Given the description of an element on the screen output the (x, y) to click on. 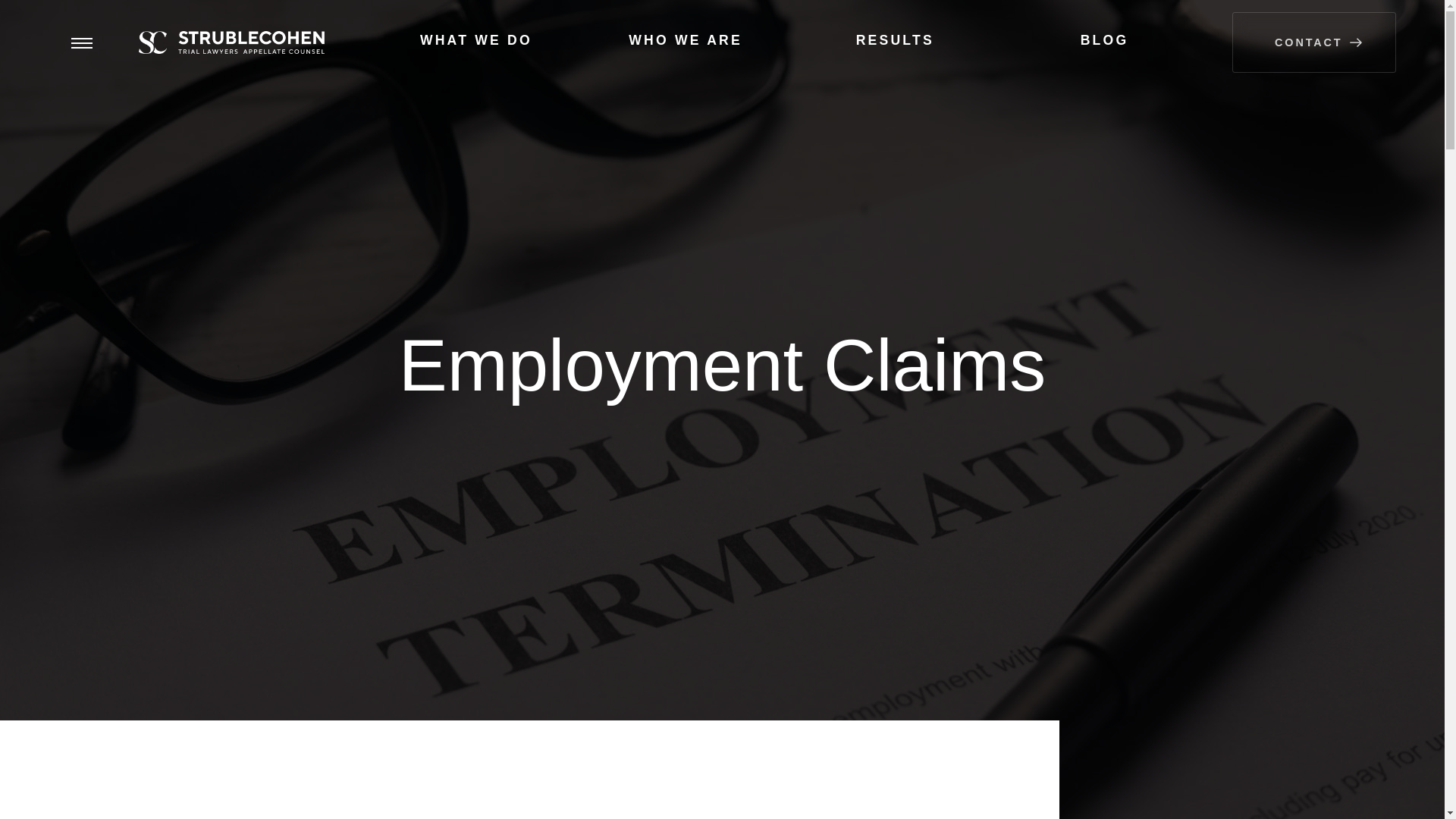
WHO WE ARE (684, 42)
WHAT WE DO (474, 42)
RESULTS (893, 42)
BLOG (1103, 42)
CONTACT (1313, 42)
